Given the description of an element on the screen output the (x, y) to click on. 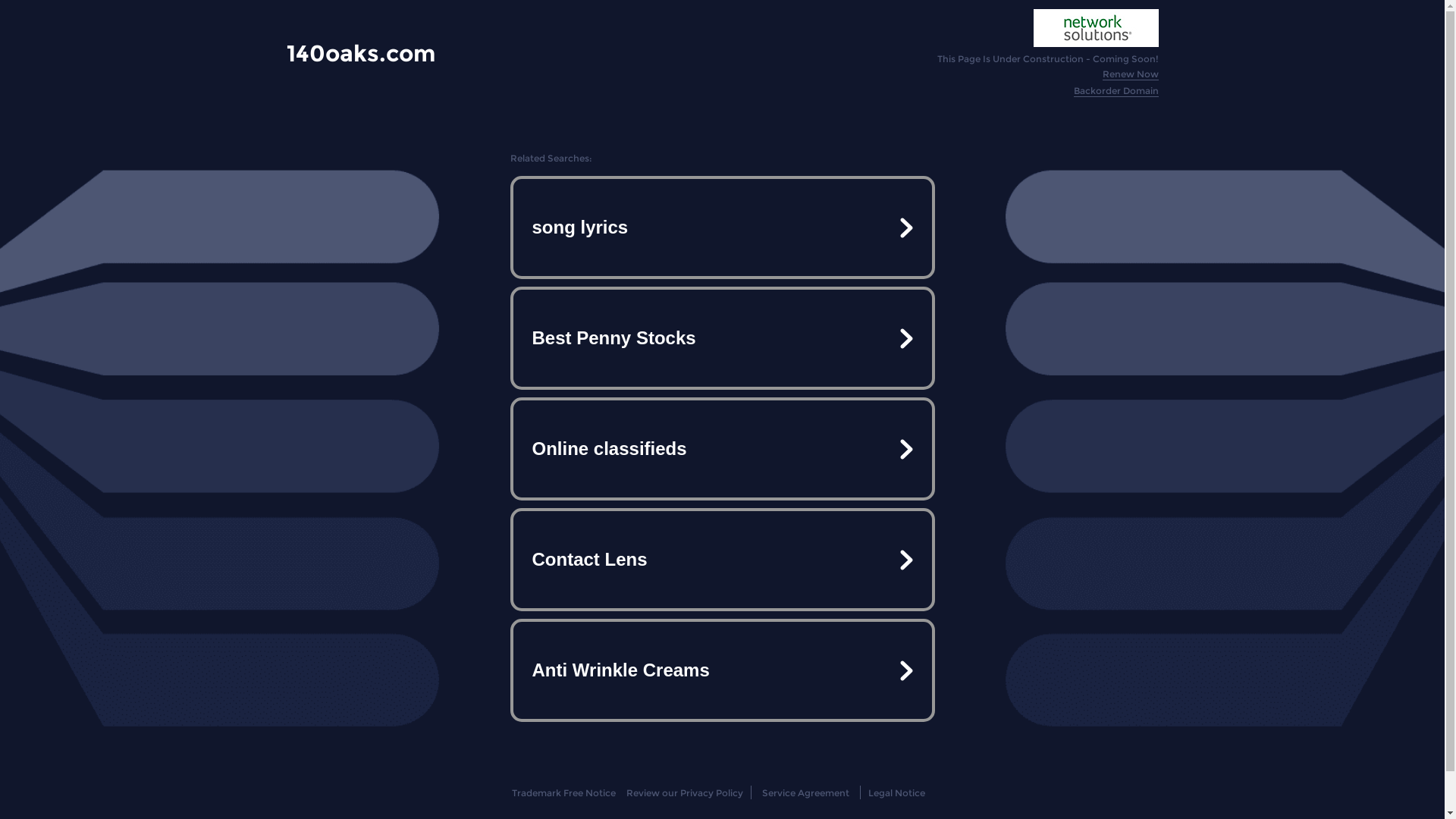
song lyrics Element type: text (721, 227)
140oaks.com Element type: text (360, 53)
Anti Wrinkle Creams Element type: text (721, 669)
Contact Lens Element type: text (721, 559)
Legal Notice Element type: text (896, 792)
Backorder Domain Element type: text (1115, 90)
Service Agreement Element type: text (805, 792)
Review our Privacy Policy Element type: text (684, 792)
Best Penny Stocks Element type: text (721, 337)
Trademark Free Notice Element type: text (563, 792)
Online classifieds Element type: text (721, 448)
Renew Now Element type: text (1130, 74)
